Given the description of an element on the screen output the (x, y) to click on. 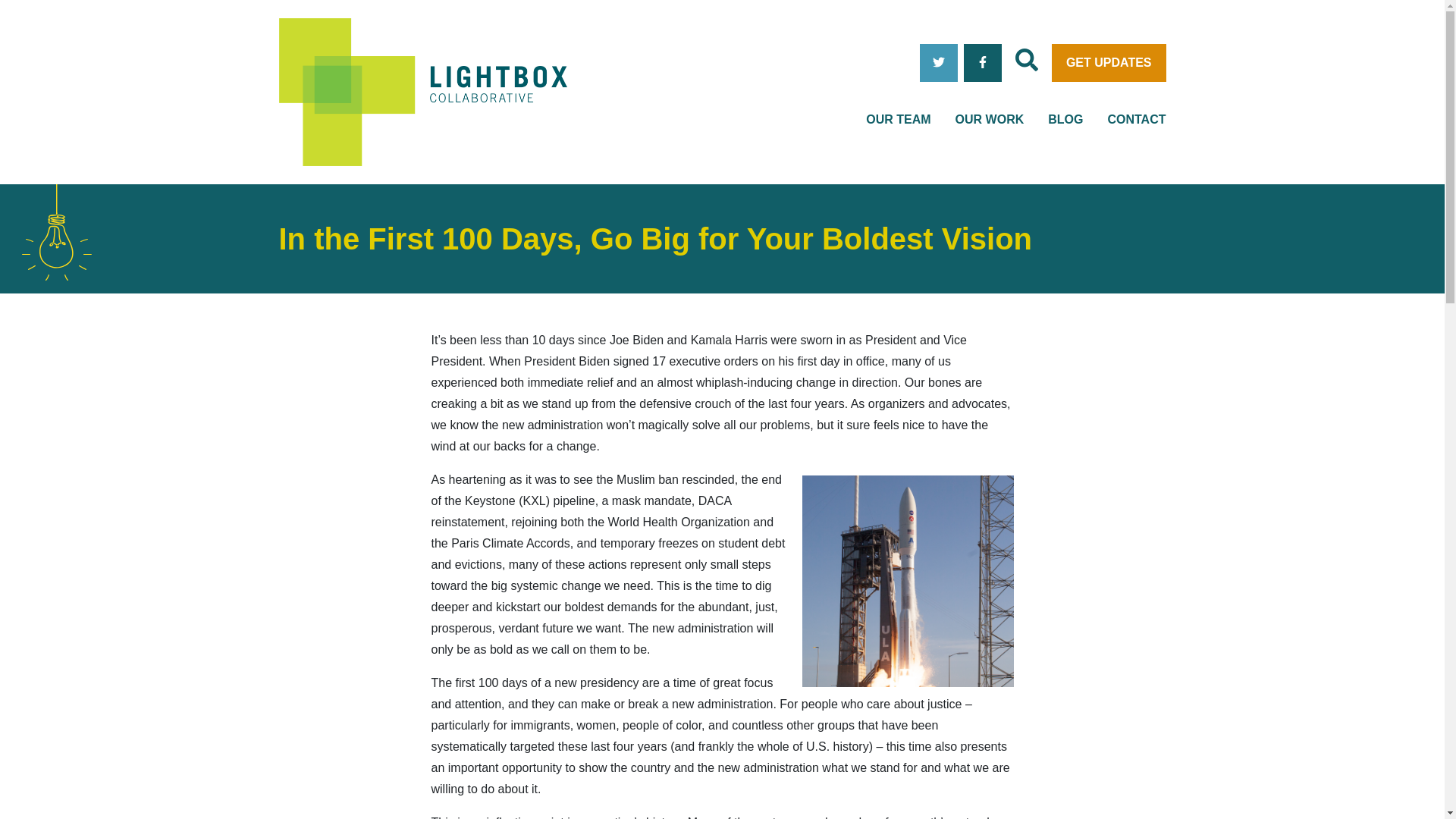
BLOG (1064, 119)
GET UPDATES (1108, 62)
Facebook (982, 62)
OUR TEAM (897, 119)
Twitter (939, 62)
CONTACT (1135, 119)
OUR WORK (989, 119)
